Given the description of an element on the screen output the (x, y) to click on. 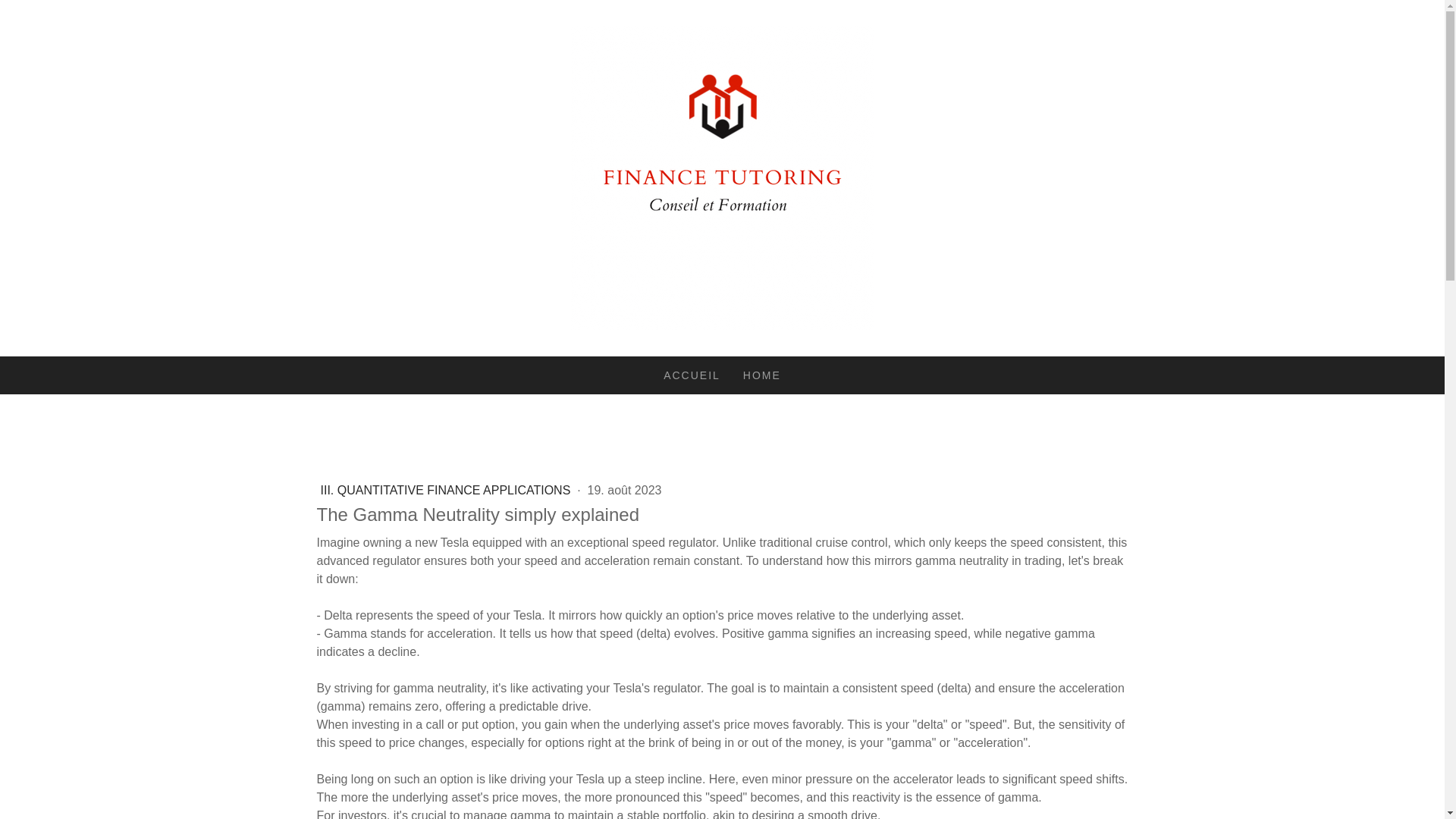
HOME (762, 374)
ACCUEIL (692, 374)
